Given the description of an element on the screen output the (x, y) to click on. 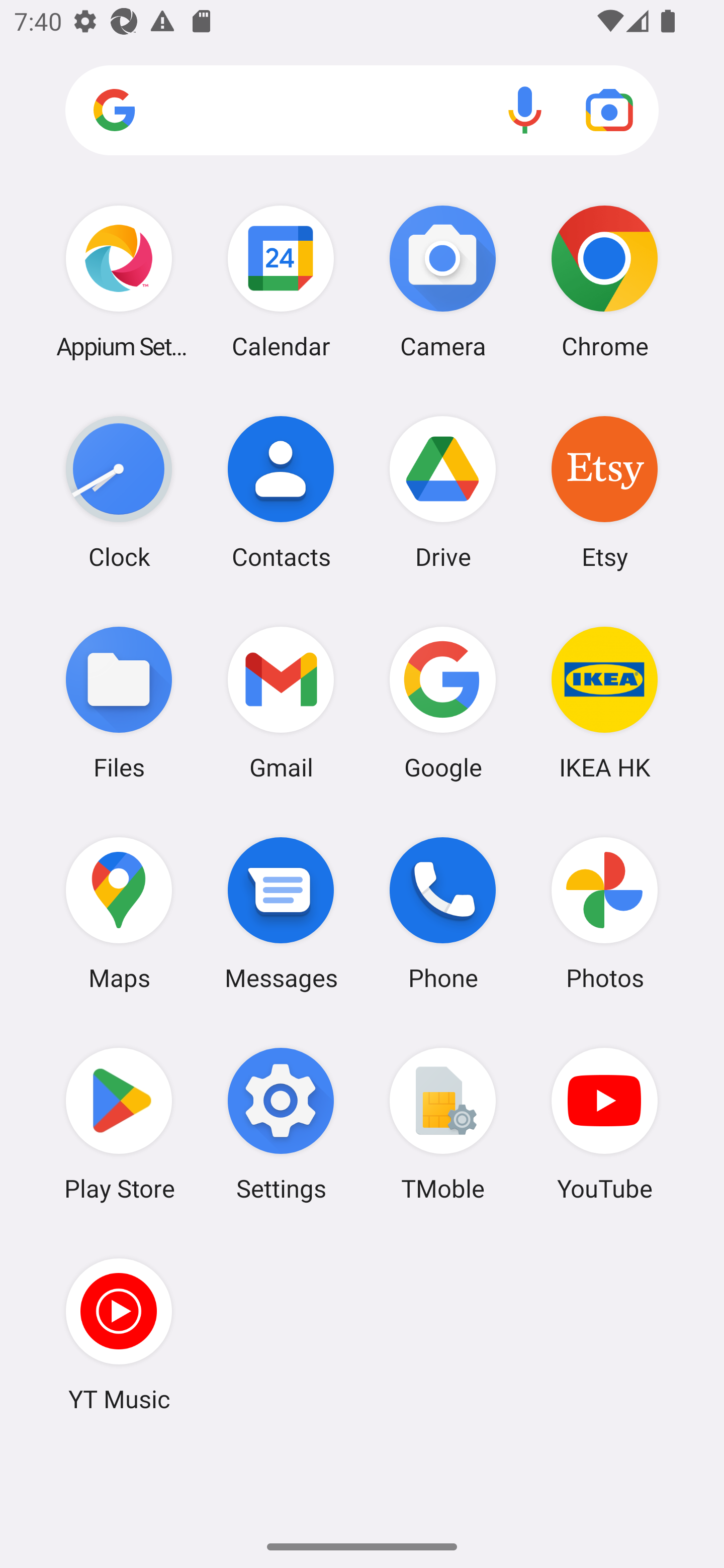
Search apps, web and more (361, 110)
Voice search (524, 109)
Google Lens (608, 109)
Appium Settings (118, 281)
Calendar (280, 281)
Camera (443, 281)
Chrome (604, 281)
Clock (118, 492)
Contacts (280, 492)
Drive (443, 492)
Etsy (604, 492)
Files (118, 702)
Gmail (280, 702)
Google (443, 702)
IKEA HK (604, 702)
Maps (118, 913)
Messages (280, 913)
Phone (443, 913)
Photos (604, 913)
Play Store (118, 1124)
Settings (280, 1124)
TMoble (443, 1124)
YouTube (604, 1124)
YT Music (118, 1334)
